Given the description of an element on the screen output the (x, y) to click on. 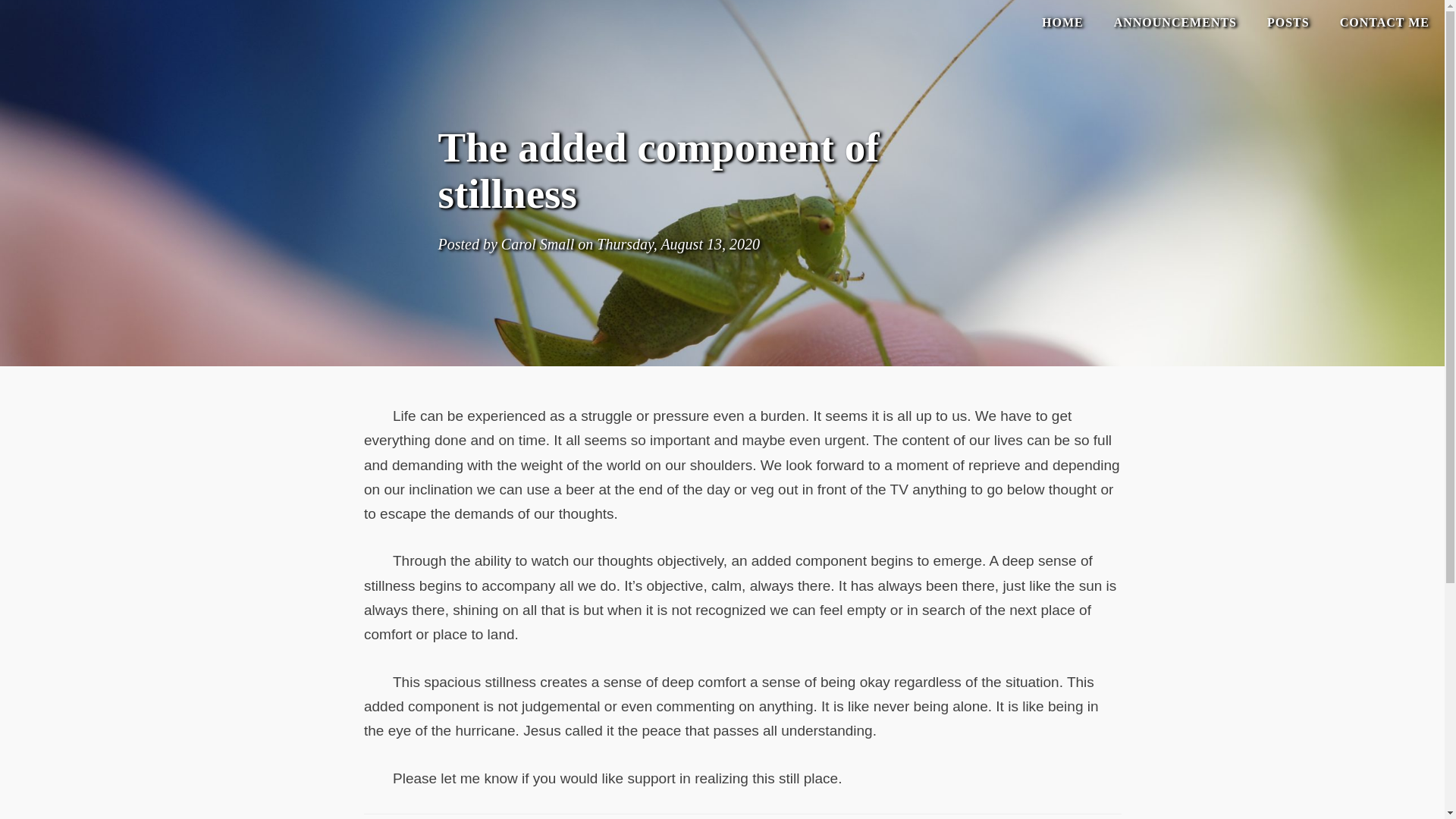
ANNOUNCEMENTS (1175, 22)
POSTS (1288, 22)
HOME (1062, 22)
